Given the description of an element on the screen output the (x, y) to click on. 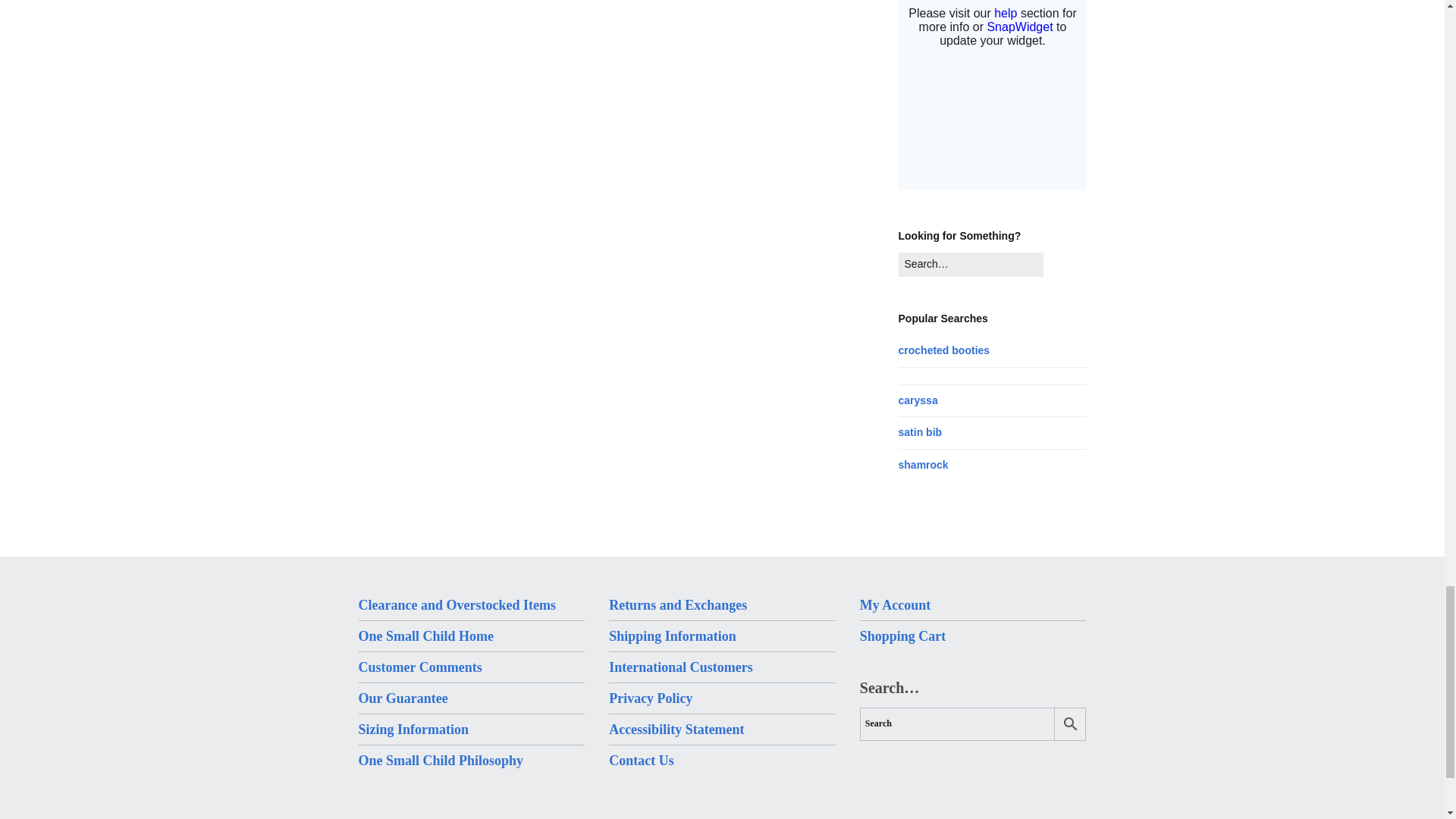
Press Enter to submit your search (970, 264)
